Given the description of an element on the screen output the (x, y) to click on. 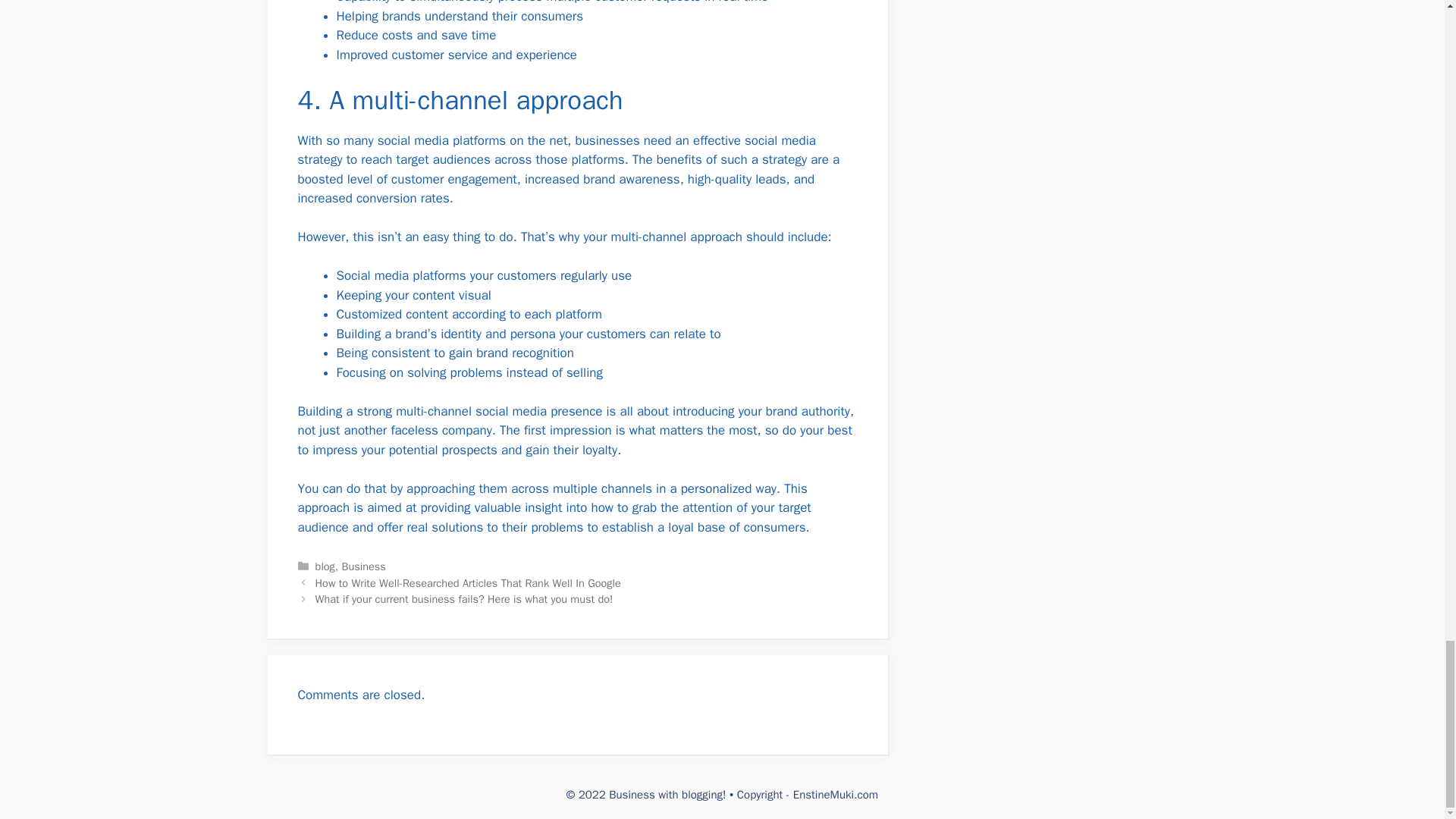
Business (363, 566)
blog (324, 566)
